Given the description of an element on the screen output the (x, y) to click on. 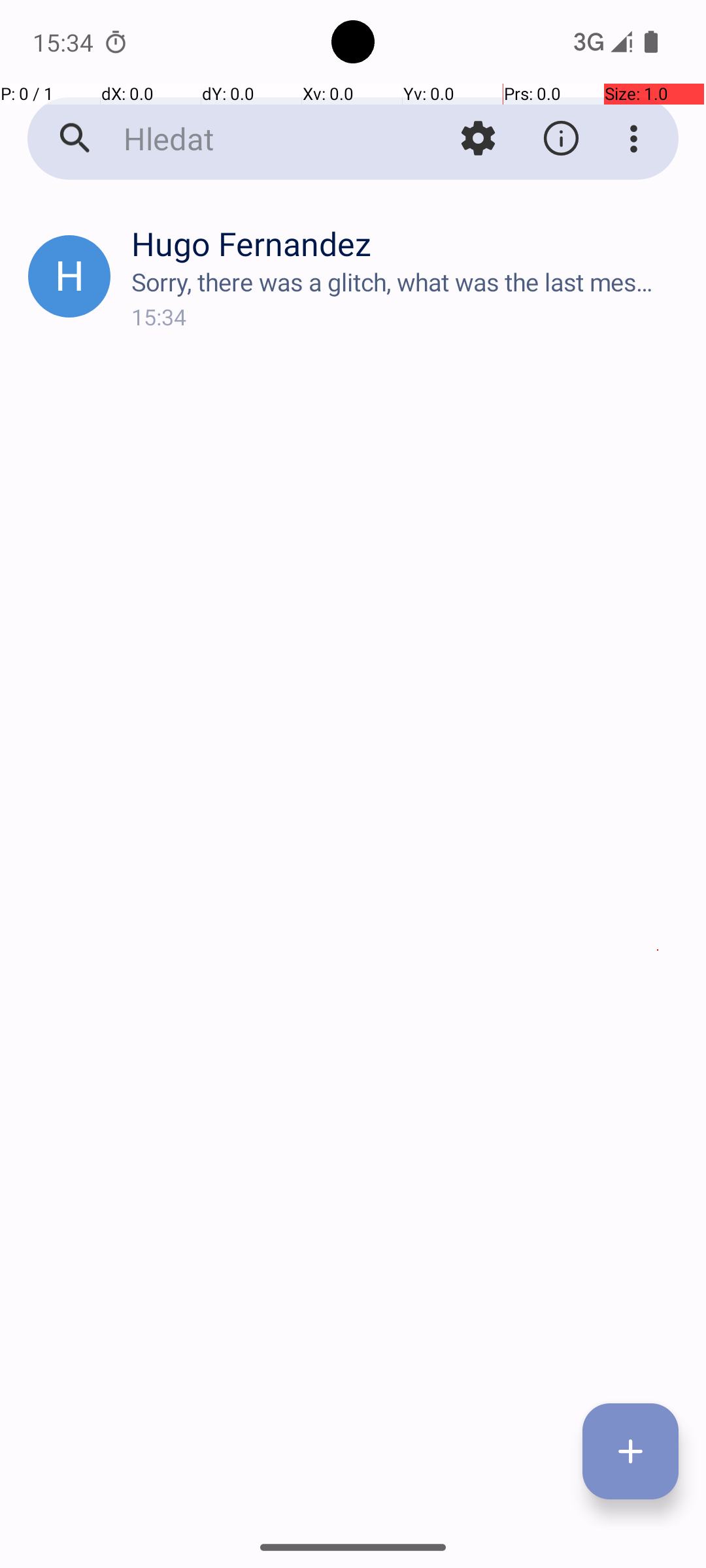
O aplikaci Element type: android.widget.Button (560, 138)
Hugo Fernandez Element type: android.widget.TextView (408, 242)
